Given the description of an element on the screen output the (x, y) to click on. 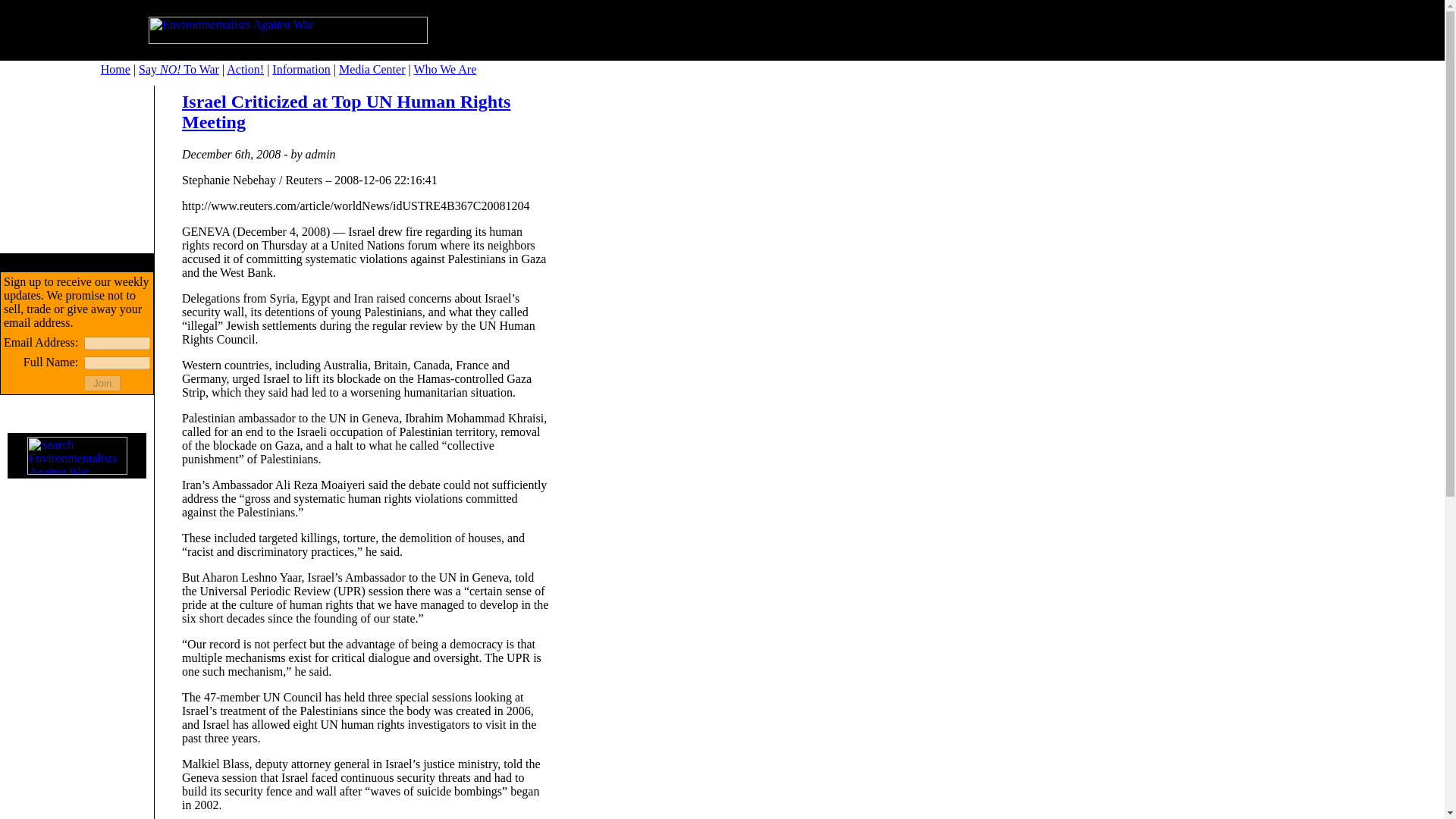
Say NO! To War (178, 69)
Who We Are (444, 69)
Information (301, 69)
Media Center (372, 69)
Israel Criticized at Top UN Human Rights Meeting (346, 111)
 Join  (102, 383)
 Join  (102, 383)
Home (115, 69)
Action! (245, 69)
